Given the description of an element on the screen output the (x, y) to click on. 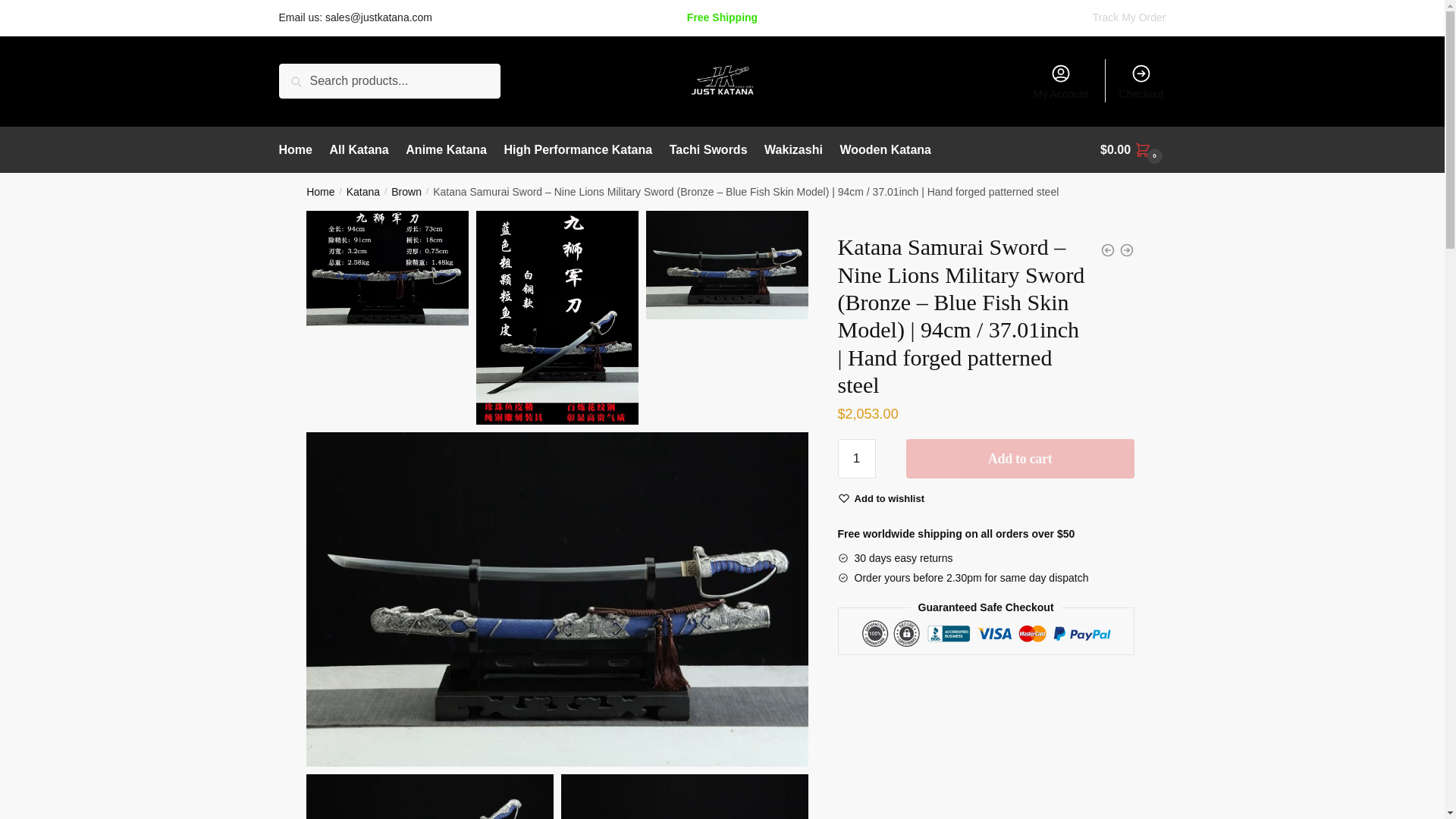
Wooden Katana (884, 149)
Tachi Swords (708, 149)
Track My Order (1129, 17)
click to zoom-in (684, 796)
click to zoom-in (386, 267)
Katana (363, 191)
High Performance Katana (578, 149)
My Account (1061, 80)
Checkout (1141, 80)
Search (302, 74)
Wakizashi (792, 149)
Brown (406, 191)
click to zoom-in (727, 264)
View your shopping cart (1133, 149)
